Given the description of an element on the screen output the (x, y) to click on. 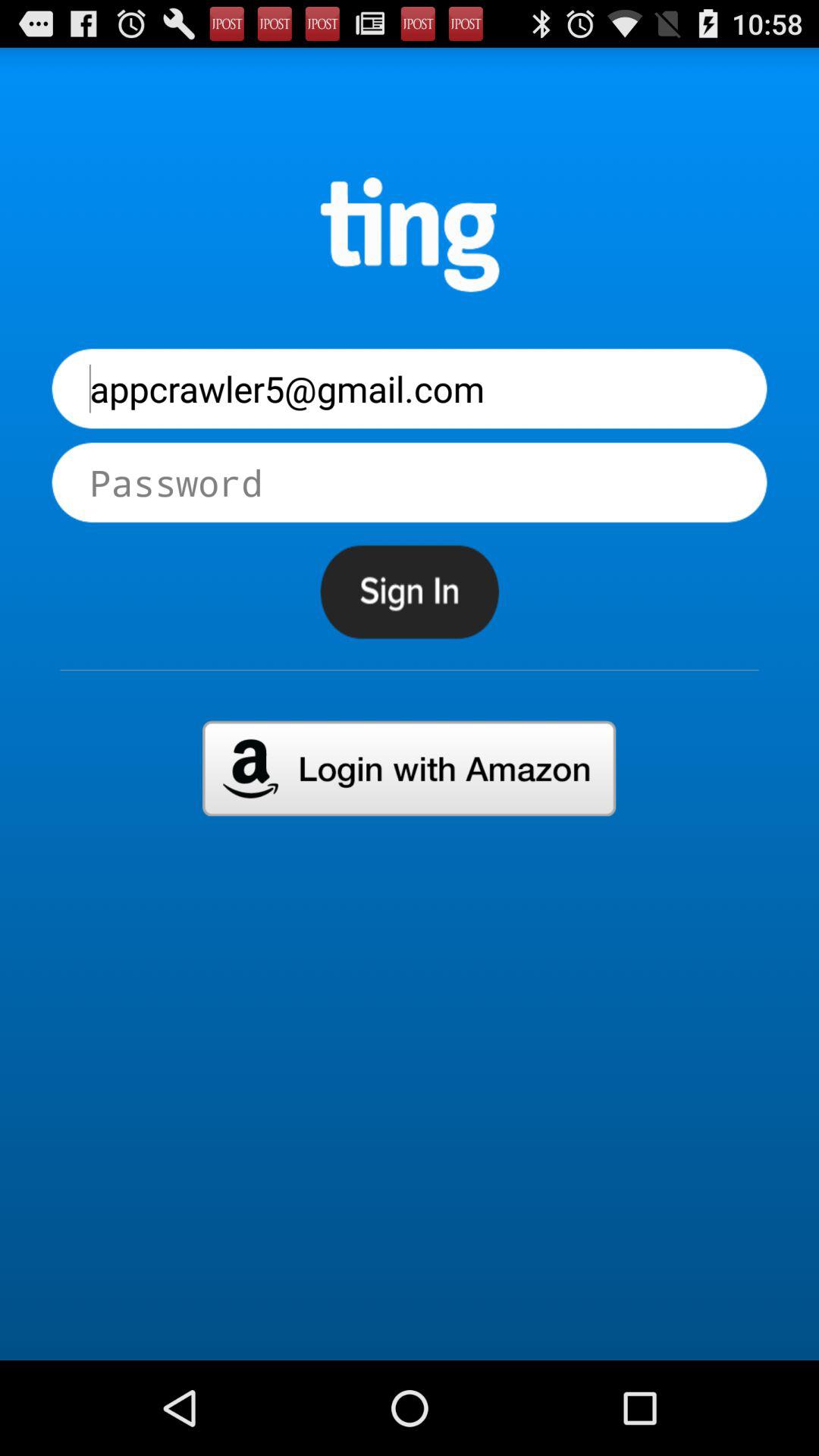
sign in (408, 591)
